Given the description of an element on the screen output the (x, y) to click on. 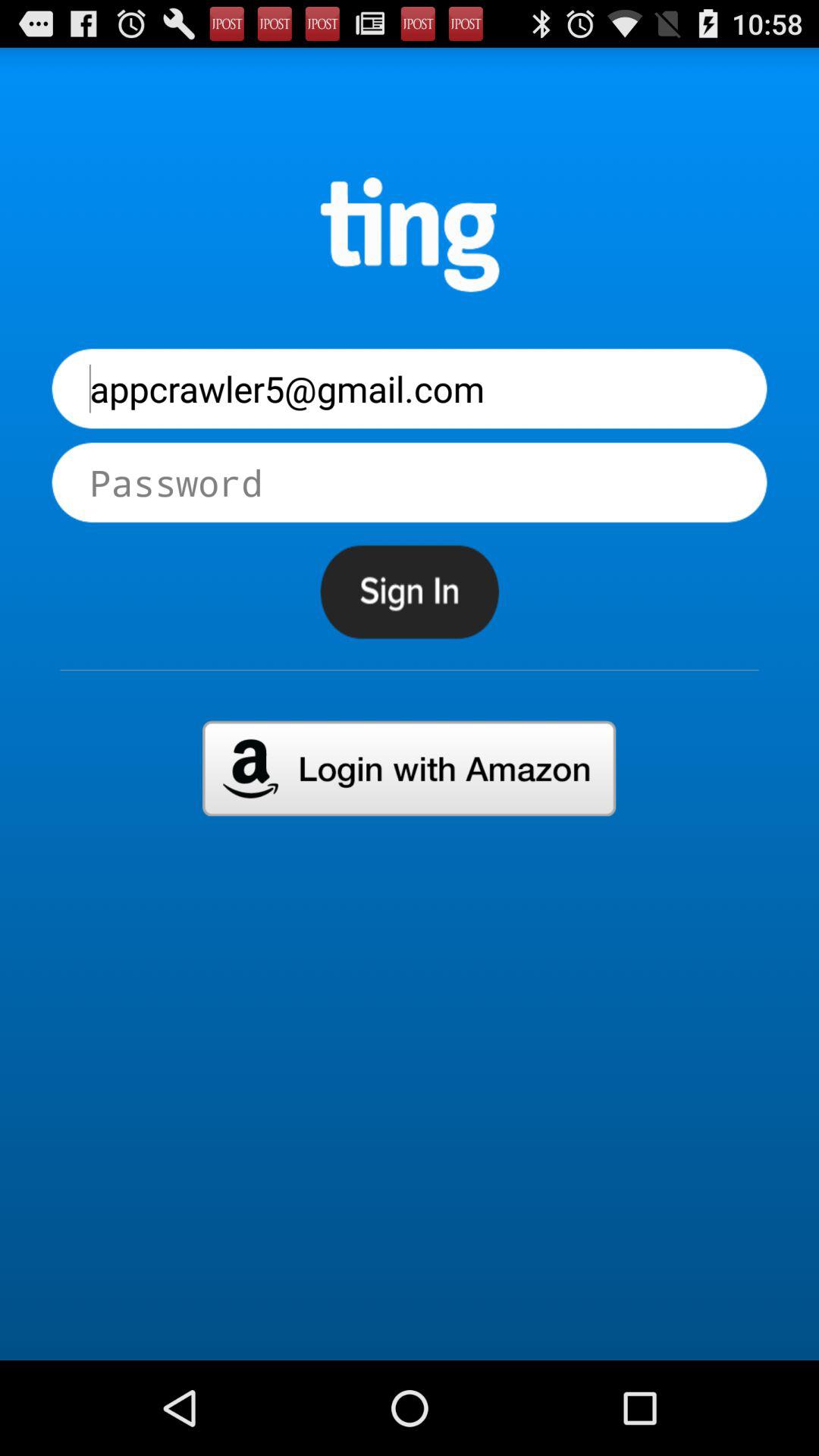
sign in (408, 591)
